Given the description of an element on the screen output the (x, y) to click on. 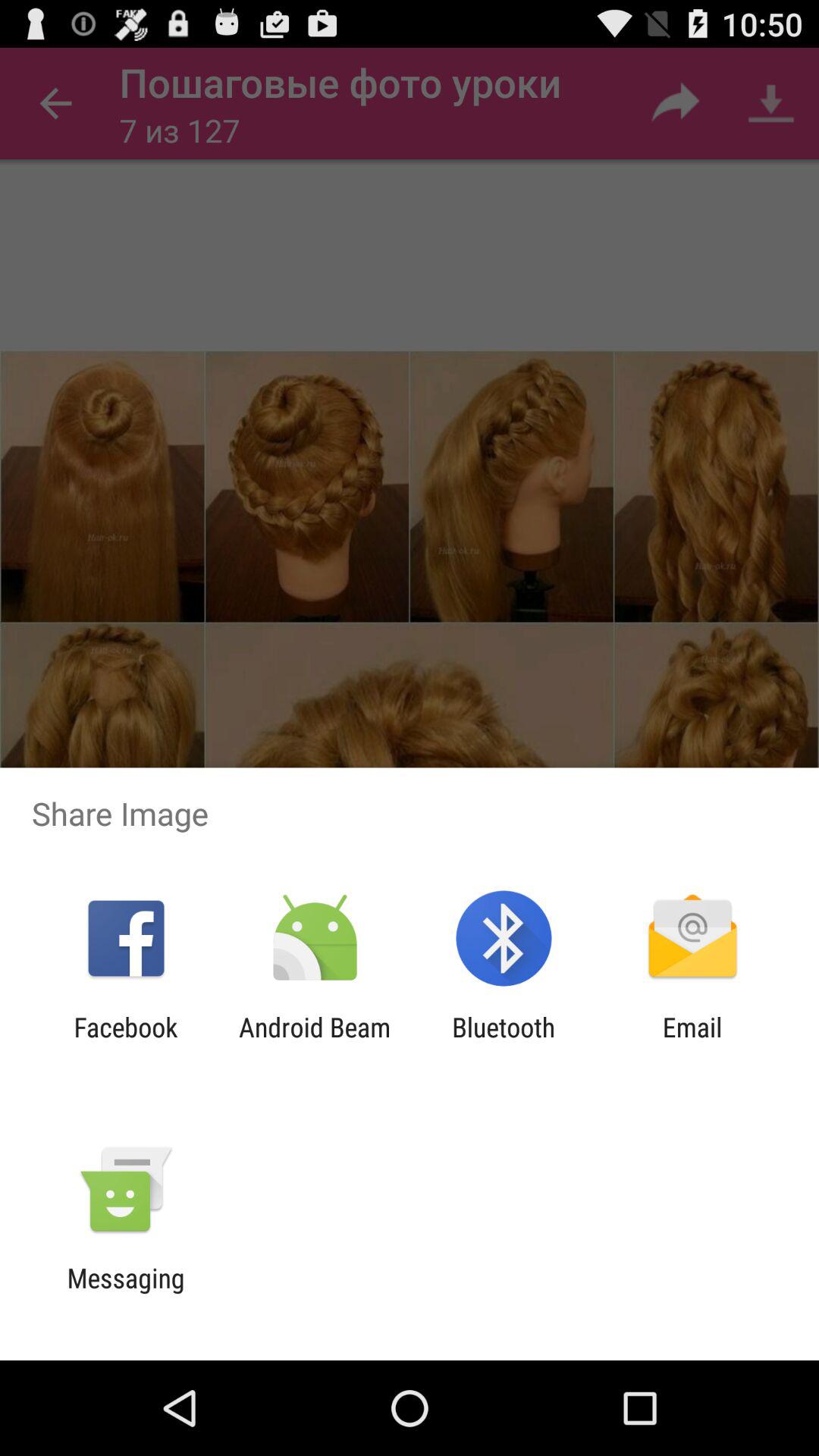
launch facebook app (125, 1042)
